Given the description of an element on the screen output the (x, y) to click on. 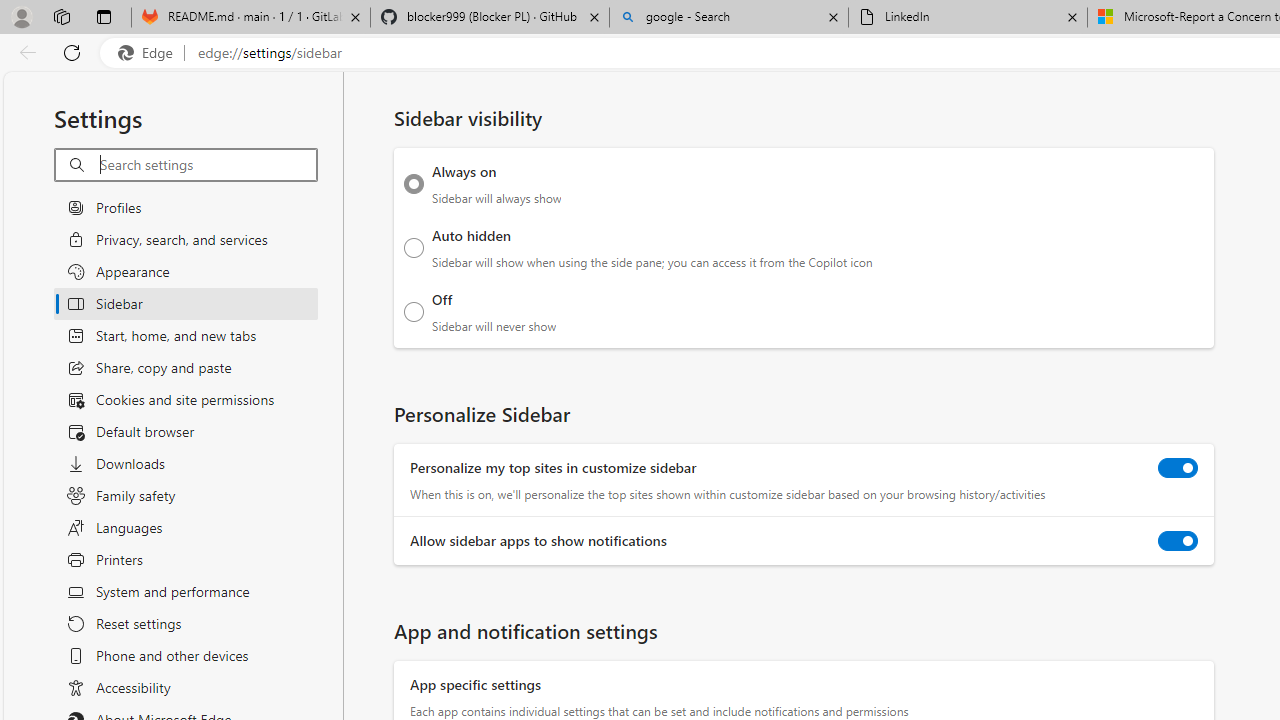
google - Search (729, 17)
Edge (150, 53)
